Given the description of an element on the screen output the (x, y) to click on. 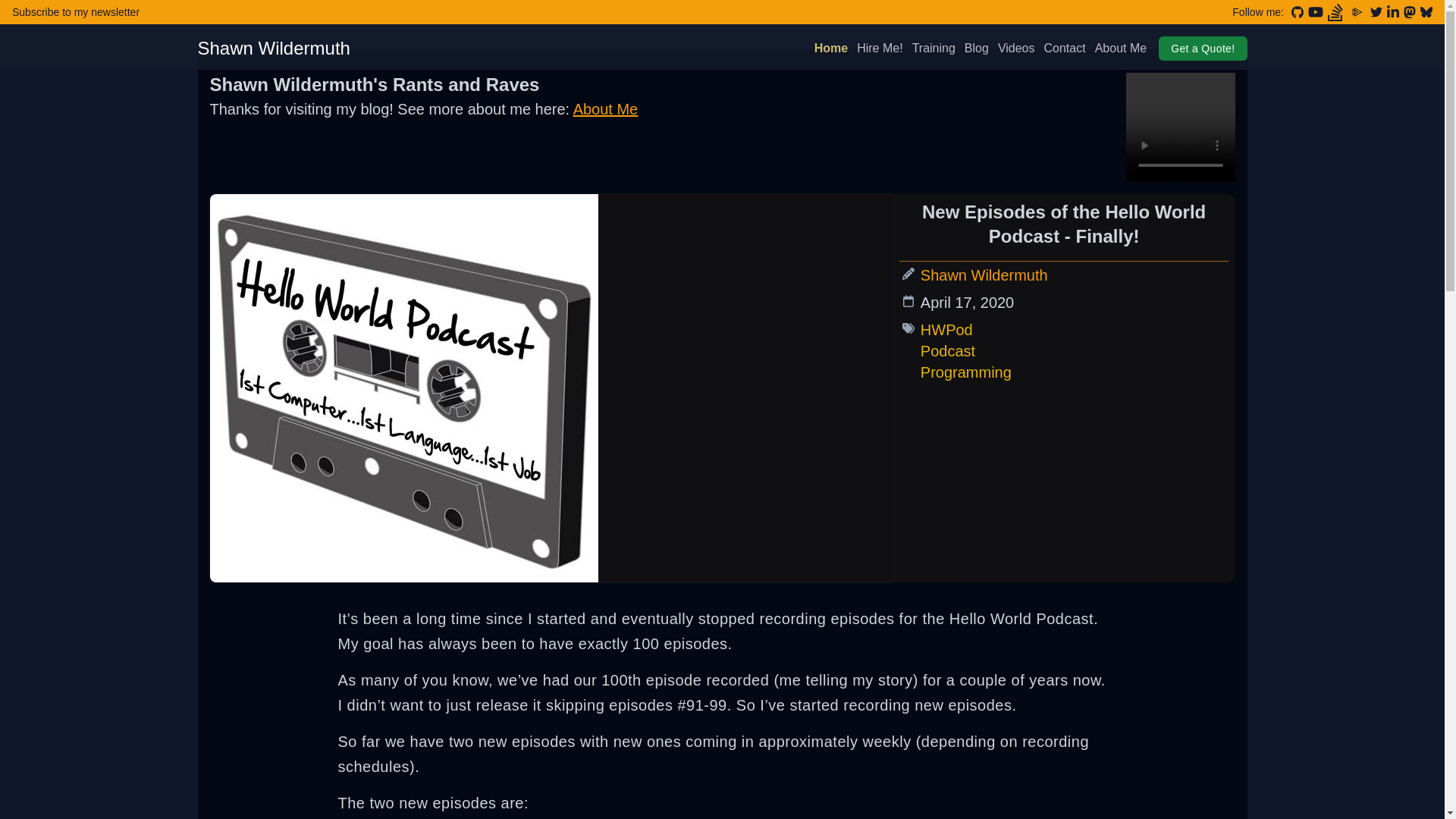
Programming (965, 371)
About Me (606, 108)
Blog (975, 48)
Shawn Wildermuth (272, 48)
Podcast (947, 351)
About Me (1120, 48)
Home (830, 48)
Get a Quote! (1202, 48)
Subscribe to my newsletter (75, 11)
Contact (1064, 48)
